Given the description of an element on the screen output the (x, y) to click on. 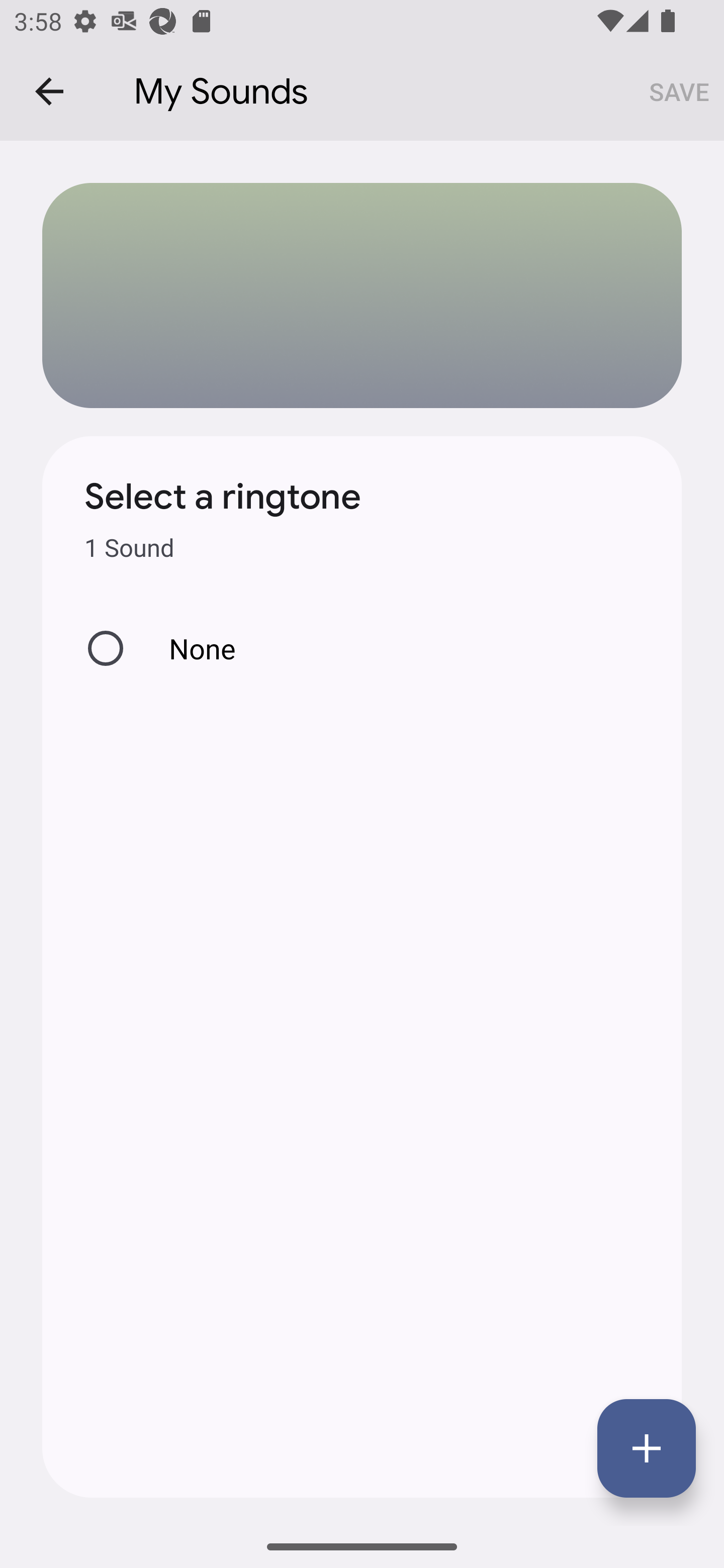
Navigate up (49, 91)
SAVE (679, 90)
None (361, 647)
Add sound files (646, 1447)
